Given the description of an element on the screen output the (x, y) to click on. 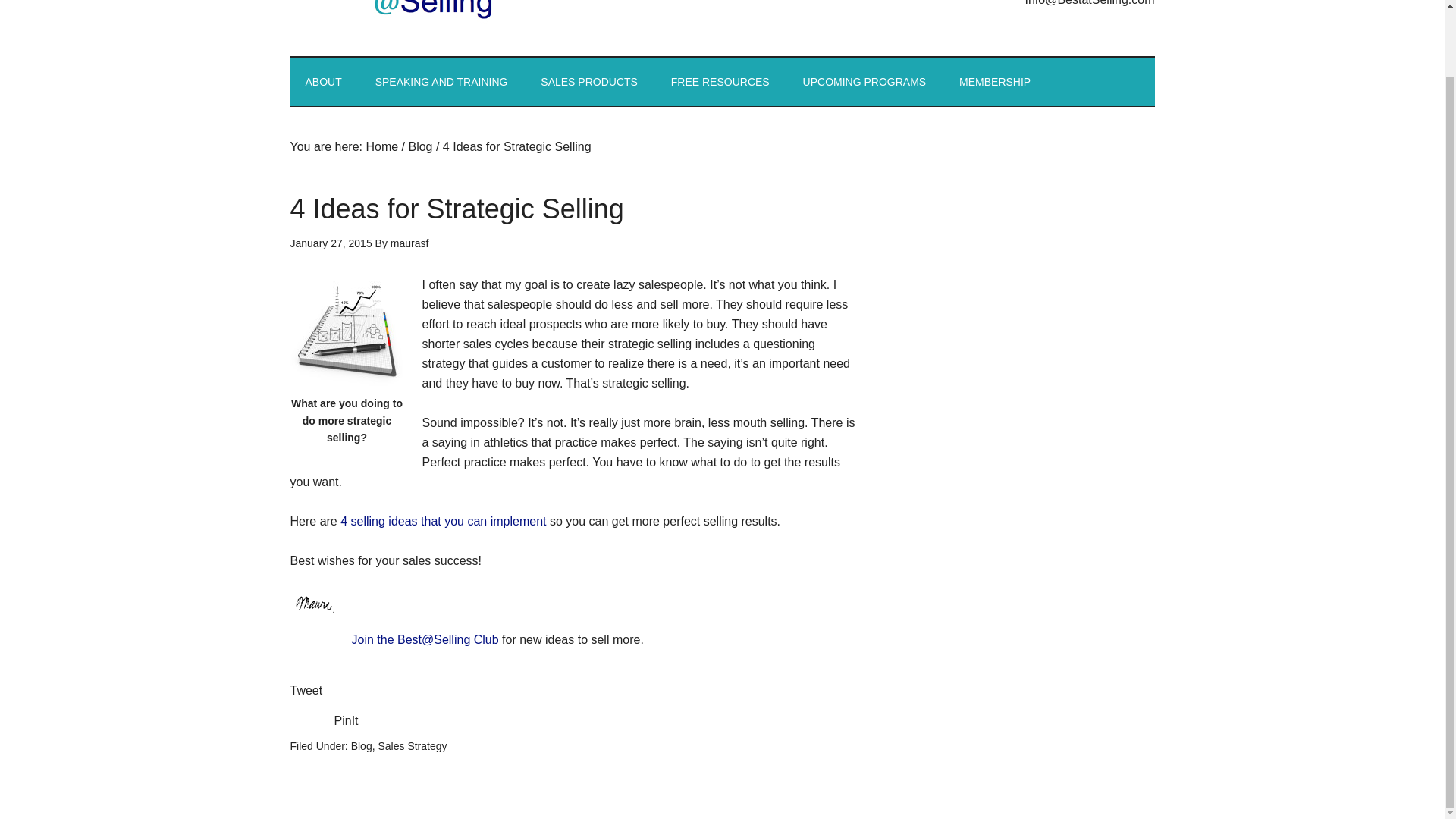
4 selling ideas that you can implement (443, 521)
UPCOMING PROGRAMS (864, 81)
SPEAKING AND TRAINING (440, 81)
Tweet (305, 689)
FREE RESOURCES (720, 81)
SALES PRODUCTS (588, 81)
ABOUT (322, 81)
PinIt (345, 720)
Home (381, 146)
Blog (419, 146)
